Given the description of an element on the screen output the (x, y) to click on. 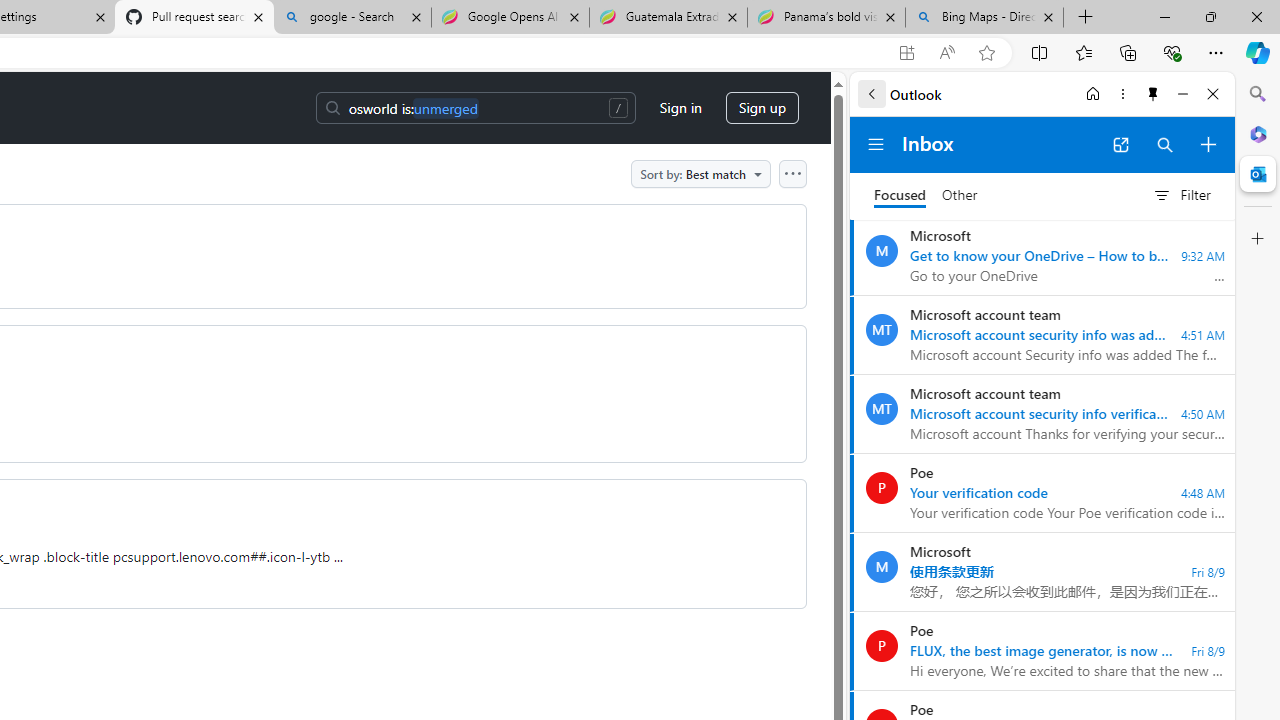
Focused Inbox, toggle to go to Other Inbox (925, 195)
Other (959, 195)
Compose new mail (1208, 144)
Filter (1181, 195)
